Given the description of an element on the screen output the (x, y) to click on. 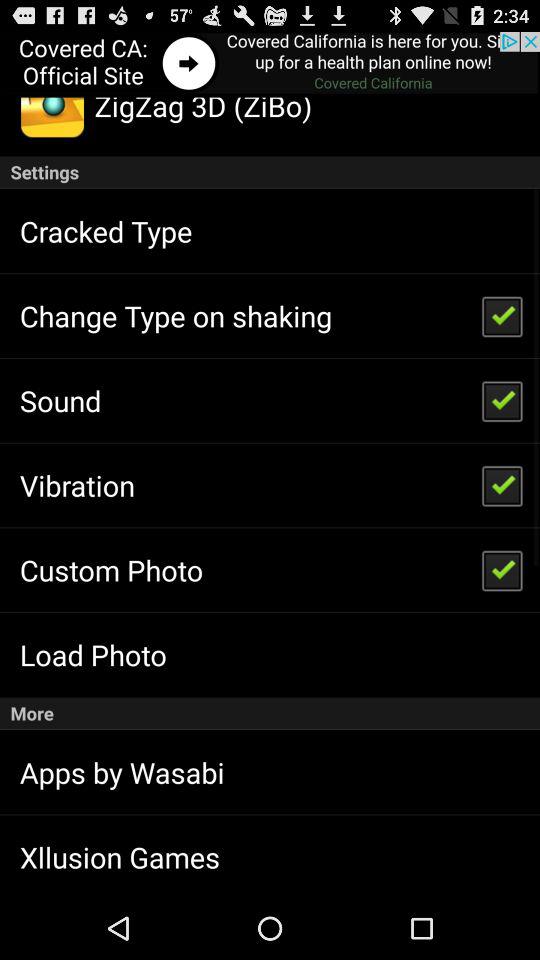
go to advertainment (270, 64)
